Given the description of an element on the screen output the (x, y) to click on. 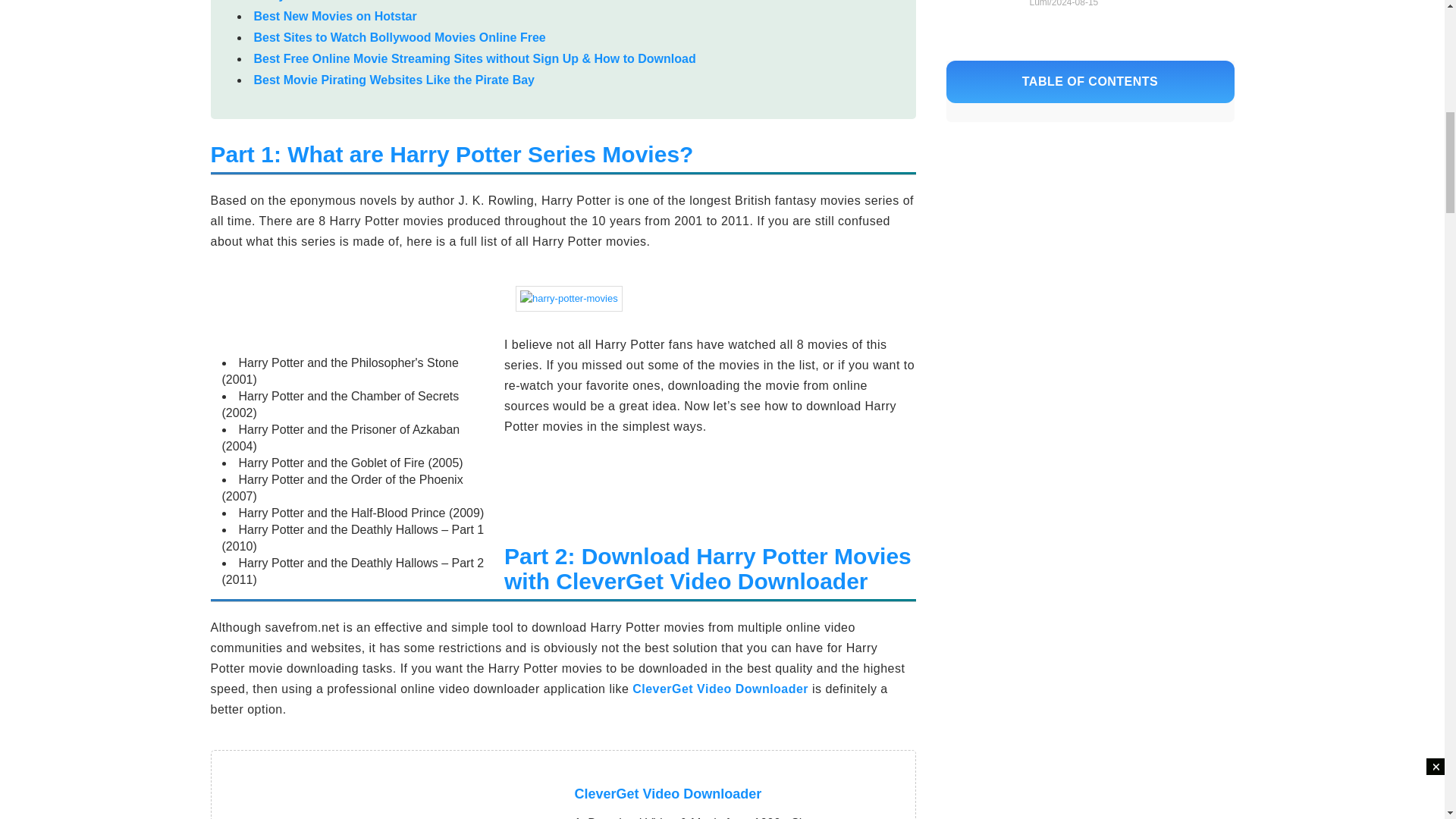
Best Sites to Watch Bollywood Movies Online Free (398, 37)
Best Movie Pirating Websites Like the Pirate Bay (393, 79)
 harry-potter-movies  (569, 298)
Best New Movies on Hotstar (334, 15)
CleverGet Video Downloader (719, 688)
CleverGet Video Downloader (668, 793)
CleverGet Video Downloader (719, 688)
